Given the description of an element on the screen output the (x, y) to click on. 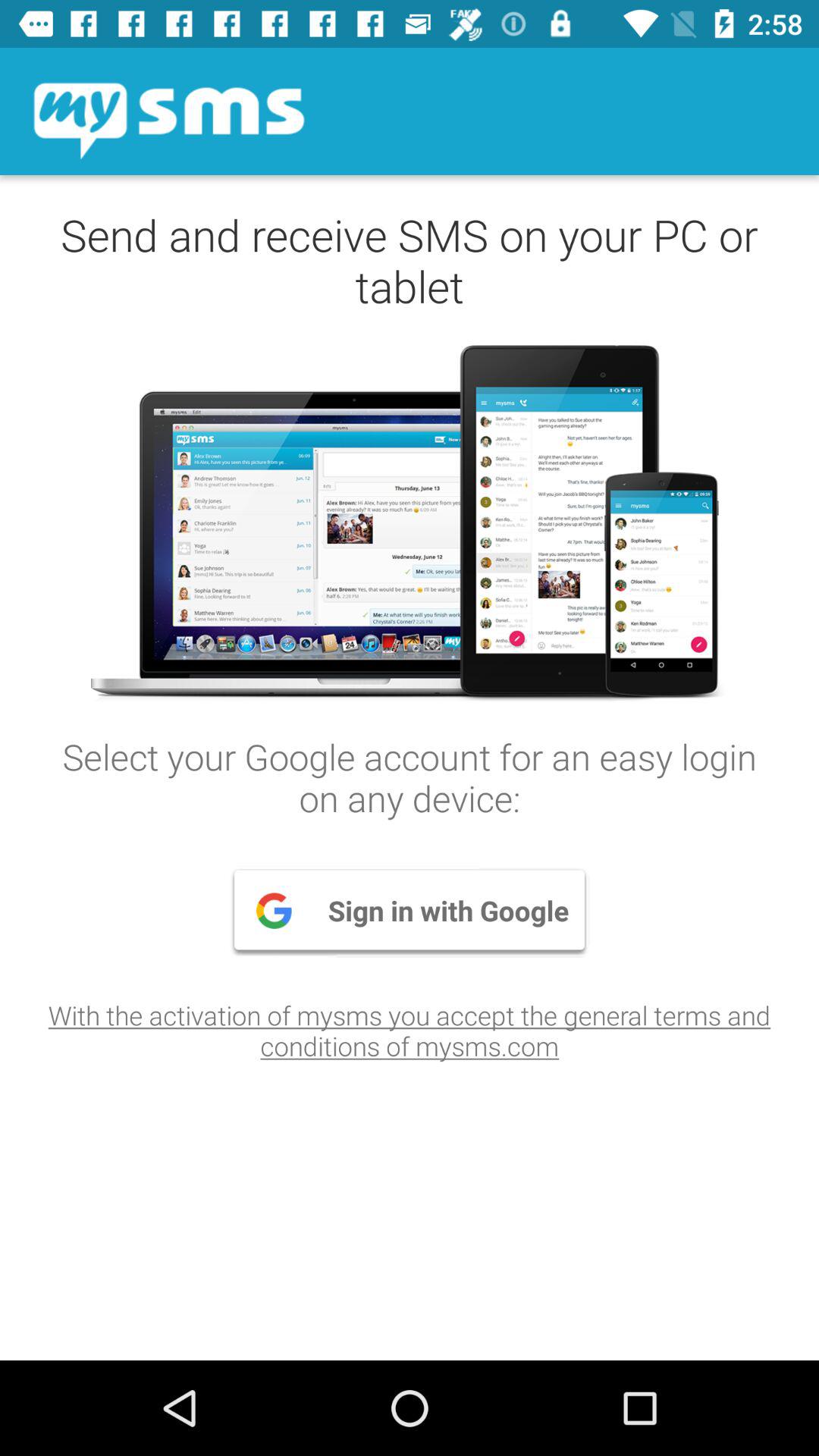
swipe to the with the activation item (409, 1030)
